Given the description of an element on the screen output the (x, y) to click on. 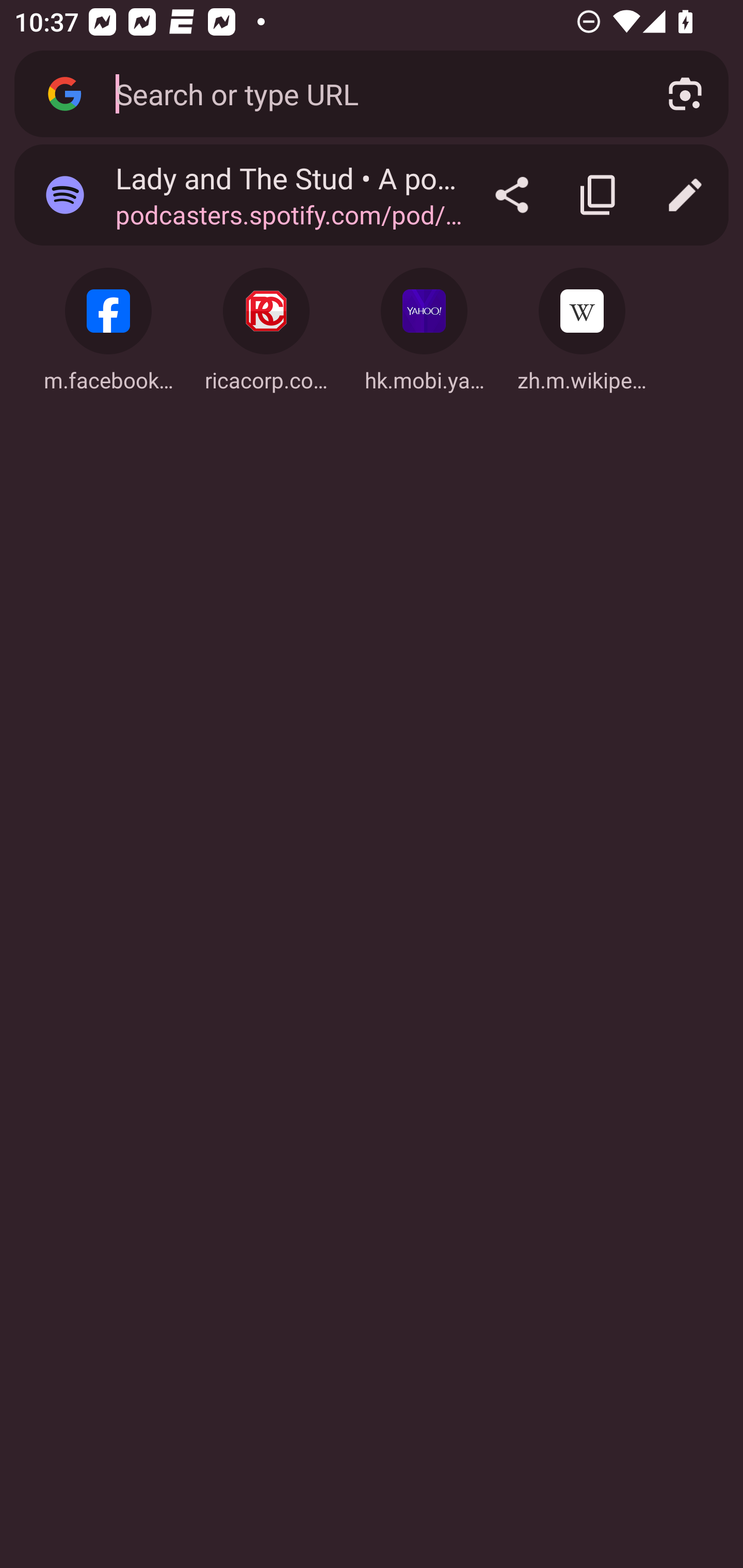
Search with your camera using Google Lens (684, 93)
Search or type URL (367, 92)
Share… (511, 195)
Copy link (598, 195)
Edit (684, 195)
